Given the description of an element on the screen output the (x, y) to click on. 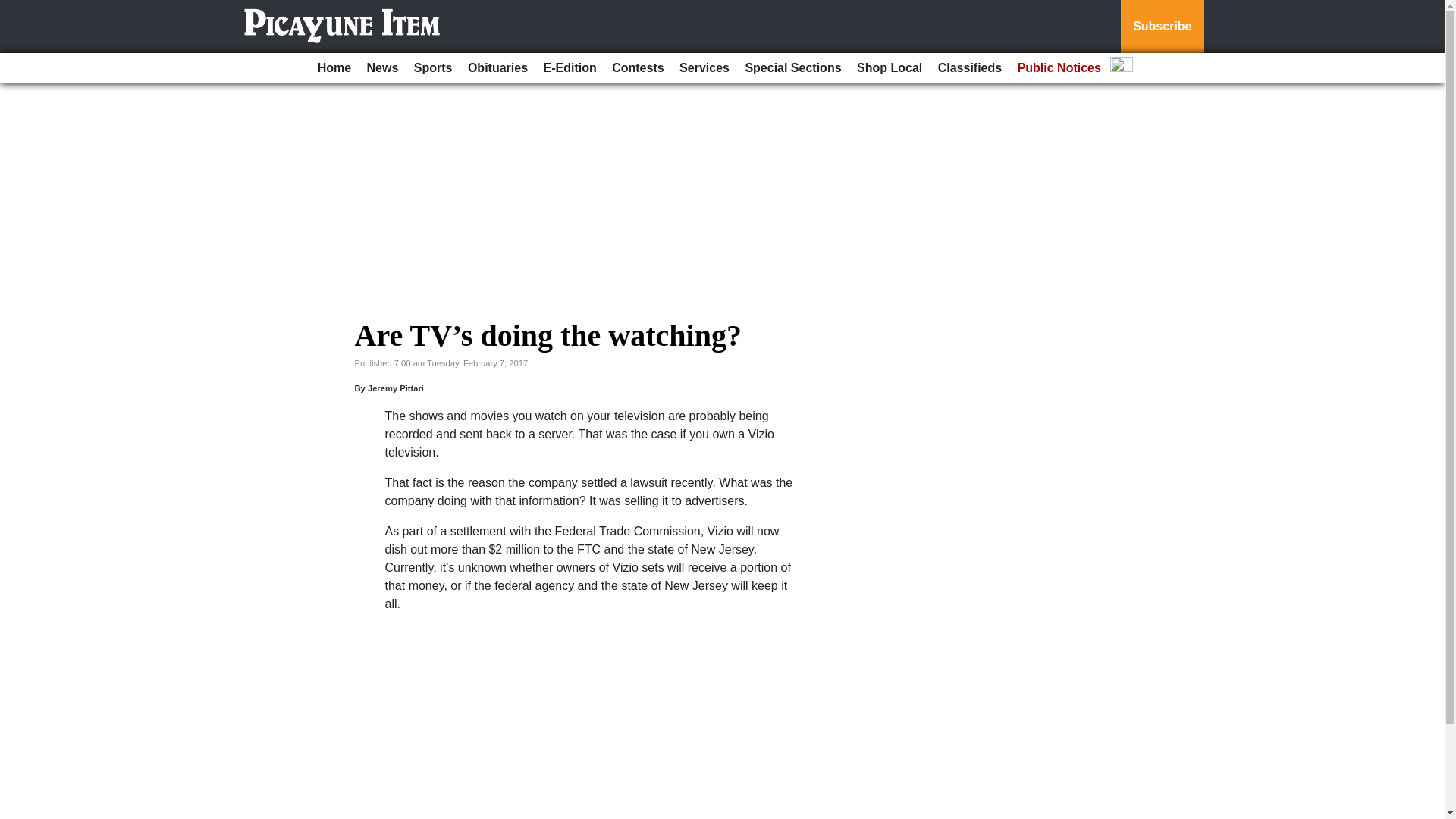
Obituaries (497, 68)
E-Edition (569, 68)
Home (333, 68)
Special Sections (792, 68)
Sports (432, 68)
Services (703, 68)
News (382, 68)
Jeremy Pittari (395, 388)
Classifieds (969, 68)
Go (13, 9)
